Given the description of an element on the screen output the (x, y) to click on. 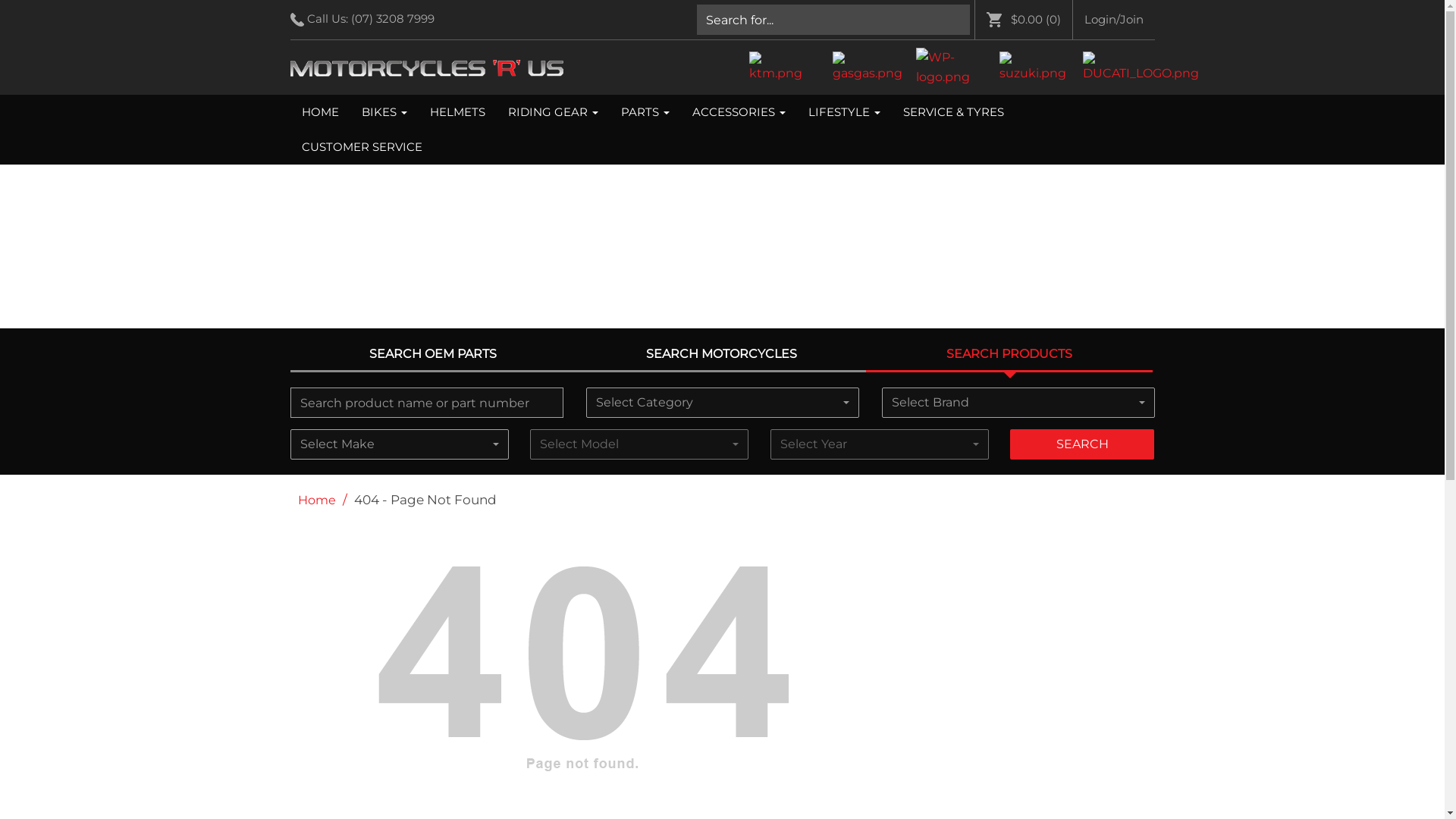
Select Model Element type: text (639, 444)
Motorcycles R Us Element type: hover (425, 67)
Select Year Element type: text (879, 444)
ACCESSORIES Element type: text (738, 111)
RIDING GEAR Element type: text (551, 111)
HELMETS Element type: text (457, 111)
SEARCH Element type: text (1082, 444)
LIFESTYLE Element type: text (843, 111)
CUSTOMER SERVICE Element type: text (361, 146)
Select Make Element type: text (398, 444)
Home Element type: text (316, 499)
SEARCH PRODUCTS Element type: text (1009, 355)
SEARCH OEM PARTS Element type: text (432, 354)
Select Brand Element type: text (1017, 402)
Select Category Element type: text (721, 402)
SEARCH MOTORCYCLES Element type: text (720, 354)
$0.00 (0) Element type: text (1028, 19)
HOME Element type: text (319, 111)
BIKES Element type: text (384, 111)
PARTS Element type: text (644, 111)
Login/Join Element type: text (1113, 19)
(07) 3208 7999 Element type: text (397, 18)
SERVICE & TYRES Element type: text (953, 111)
Call Us Element type: hover (296, 19)
